Given the description of an element on the screen output the (x, y) to click on. 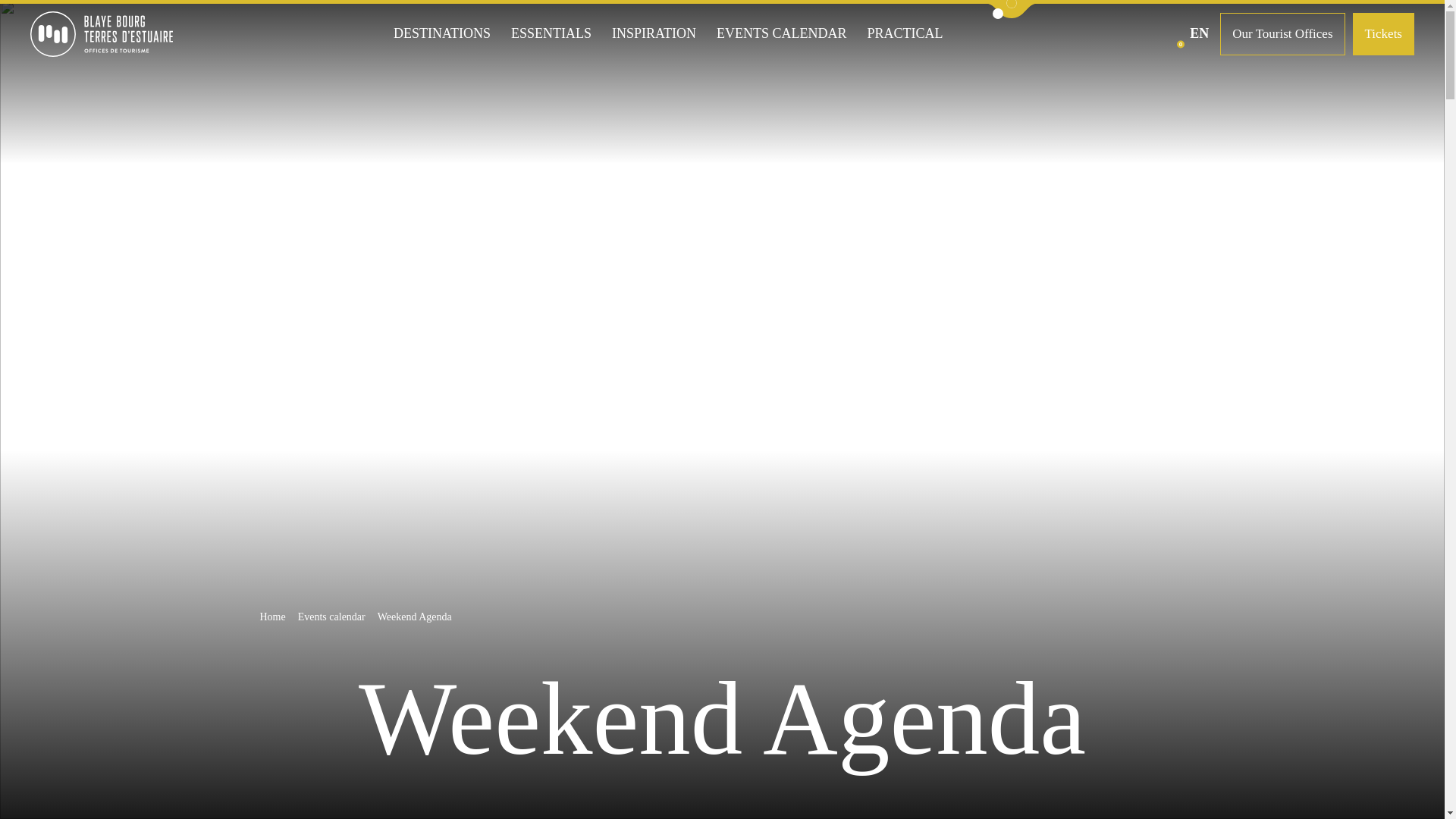
DESTINATIONS (441, 33)
INSPIRATION (653, 33)
ESSENTIALS (551, 33)
EVENTS CALENDAR (781, 33)
PRACTICAL (904, 33)
